Given the description of an element on the screen output the (x, y) to click on. 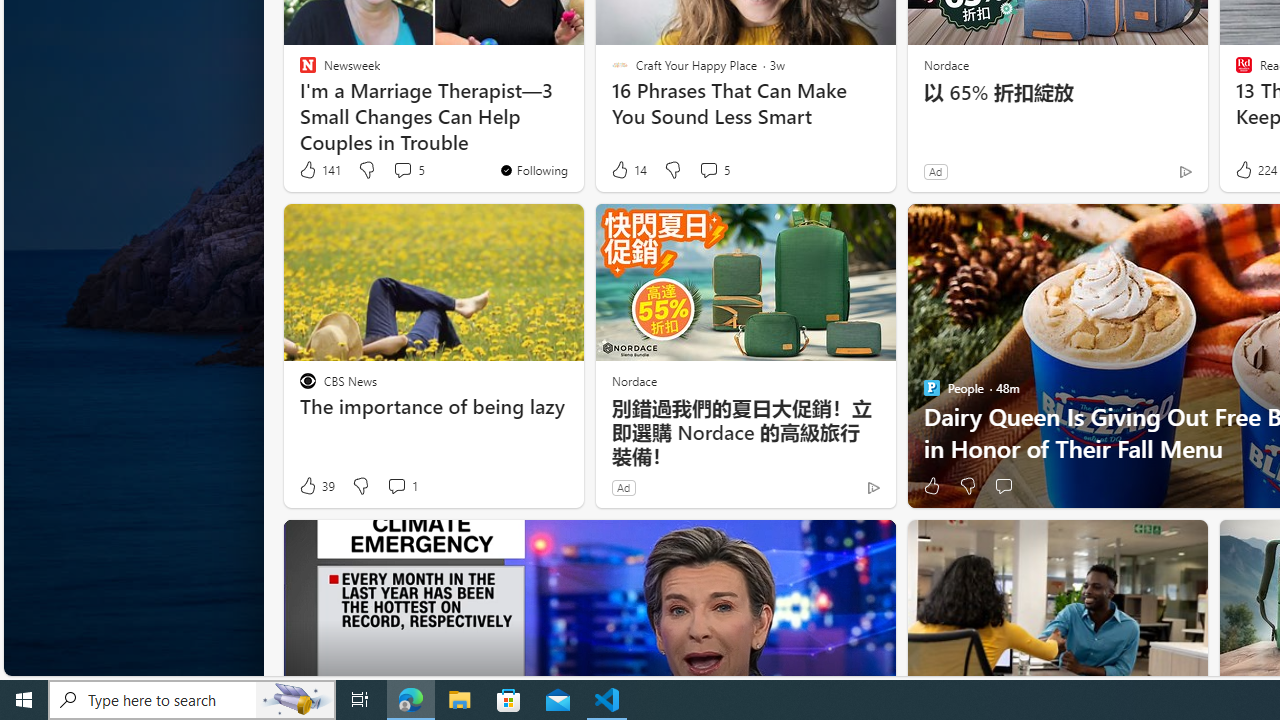
View comments 5 Comment (708, 169)
39 Like (316, 485)
141 Like (319, 170)
You're following Newsweek (532, 169)
View comments 5 Comment (713, 170)
14 Like (628, 170)
